Given the description of an element on the screen output the (x, y) to click on. 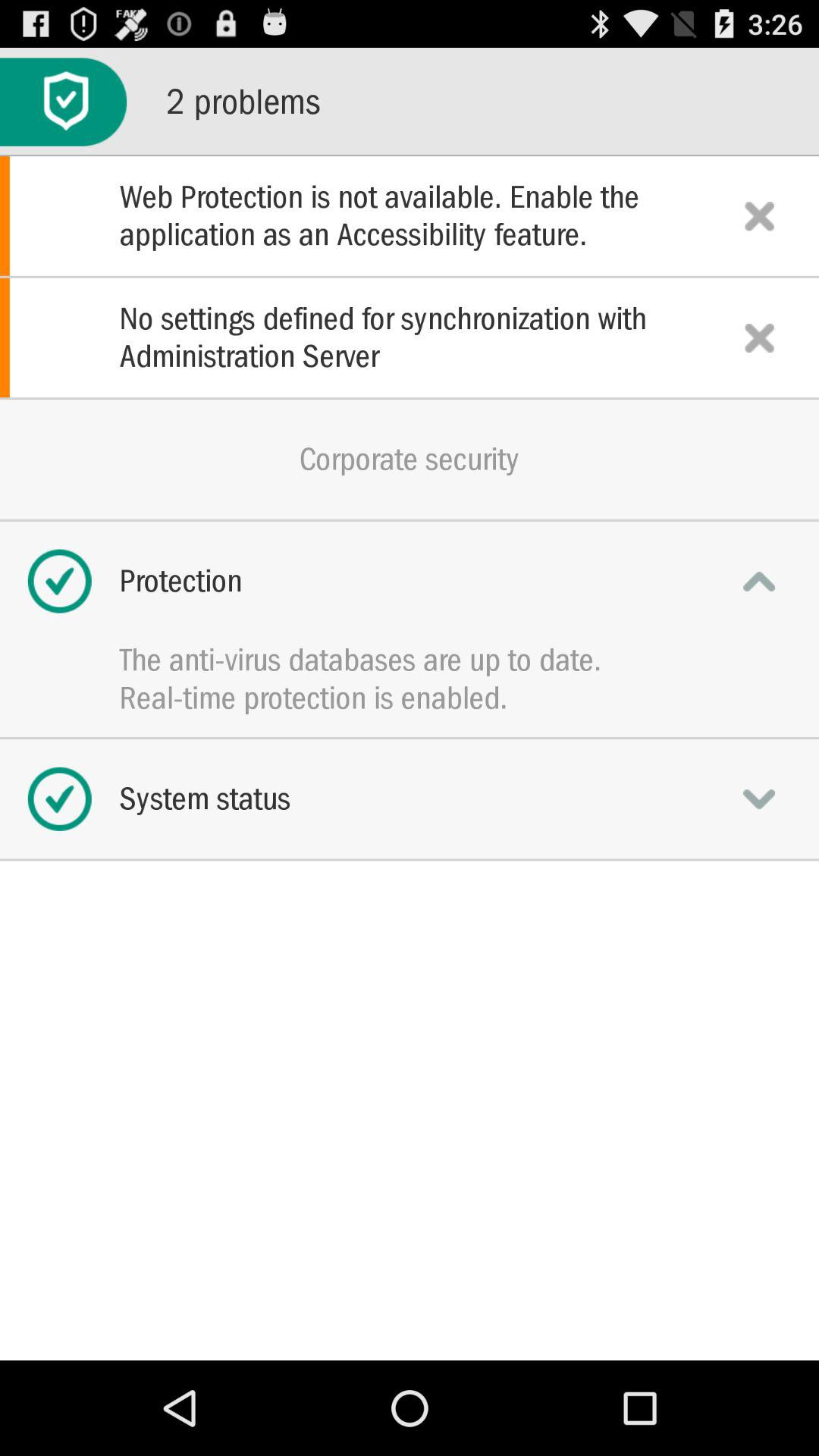
choose the the anti virus app (409, 659)
